Given the description of an element on the screen output the (x, y) to click on. 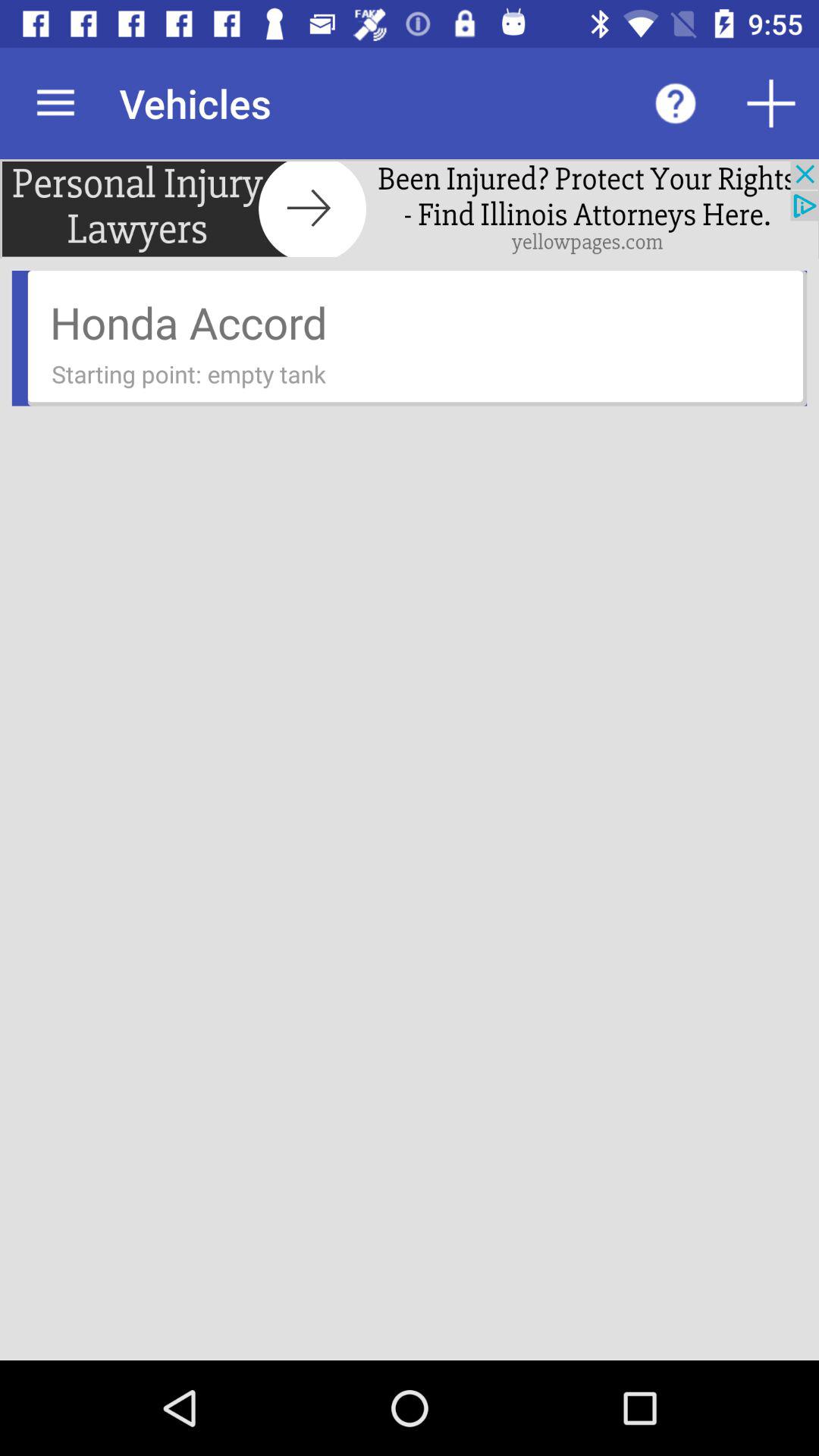
find lawyers in yellowpages (409, 208)
